Given the description of an element on the screen output the (x, y) to click on. 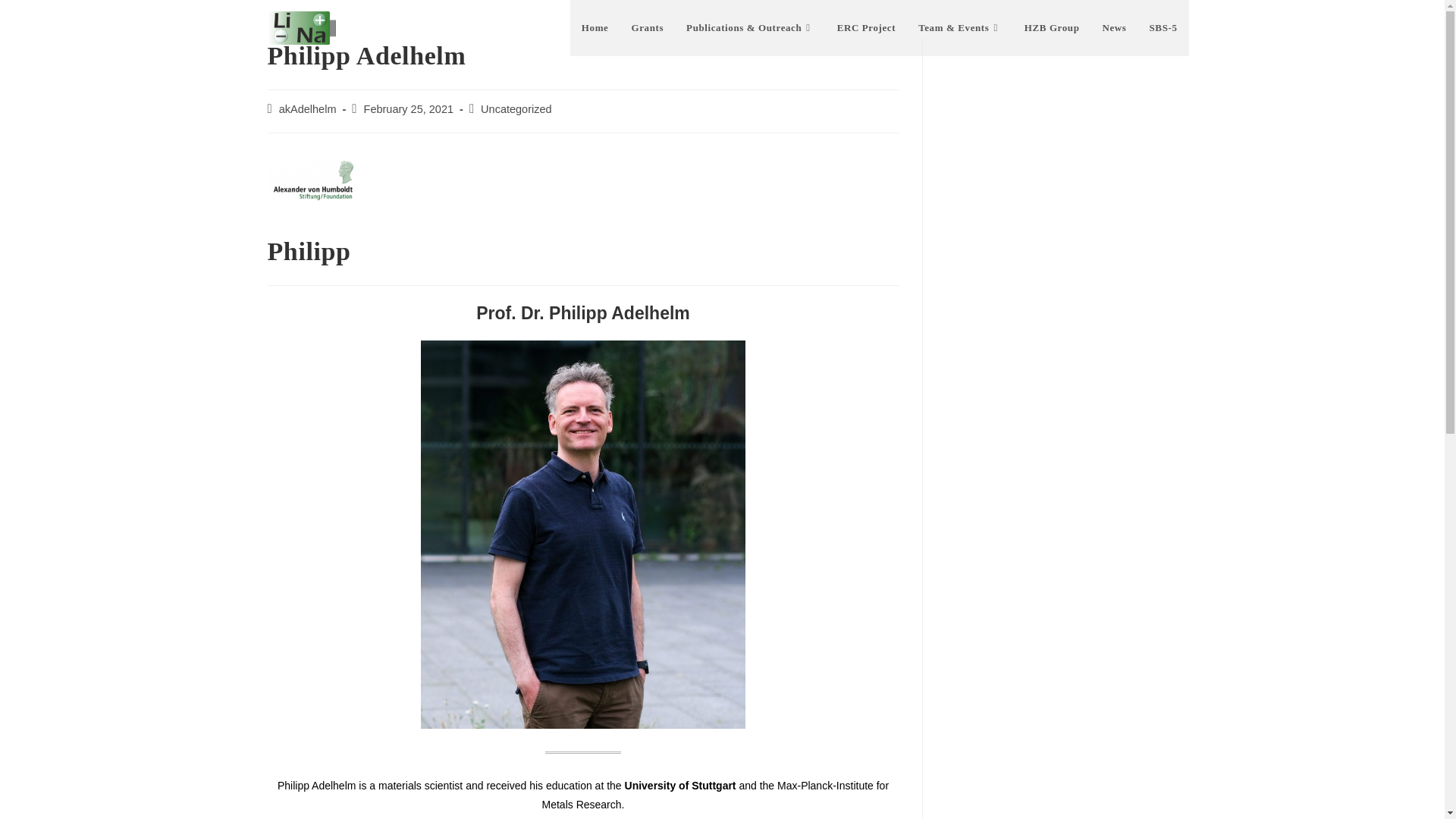
Posts by akAdelhelm (307, 109)
akAdelhelm (307, 109)
SBS-5 (1163, 28)
HZB Group (1051, 28)
News (1114, 28)
Grants (647, 28)
ERC Project (866, 28)
Home (595, 28)
Uncategorized (515, 109)
